Given the description of an element on the screen output the (x, y) to click on. 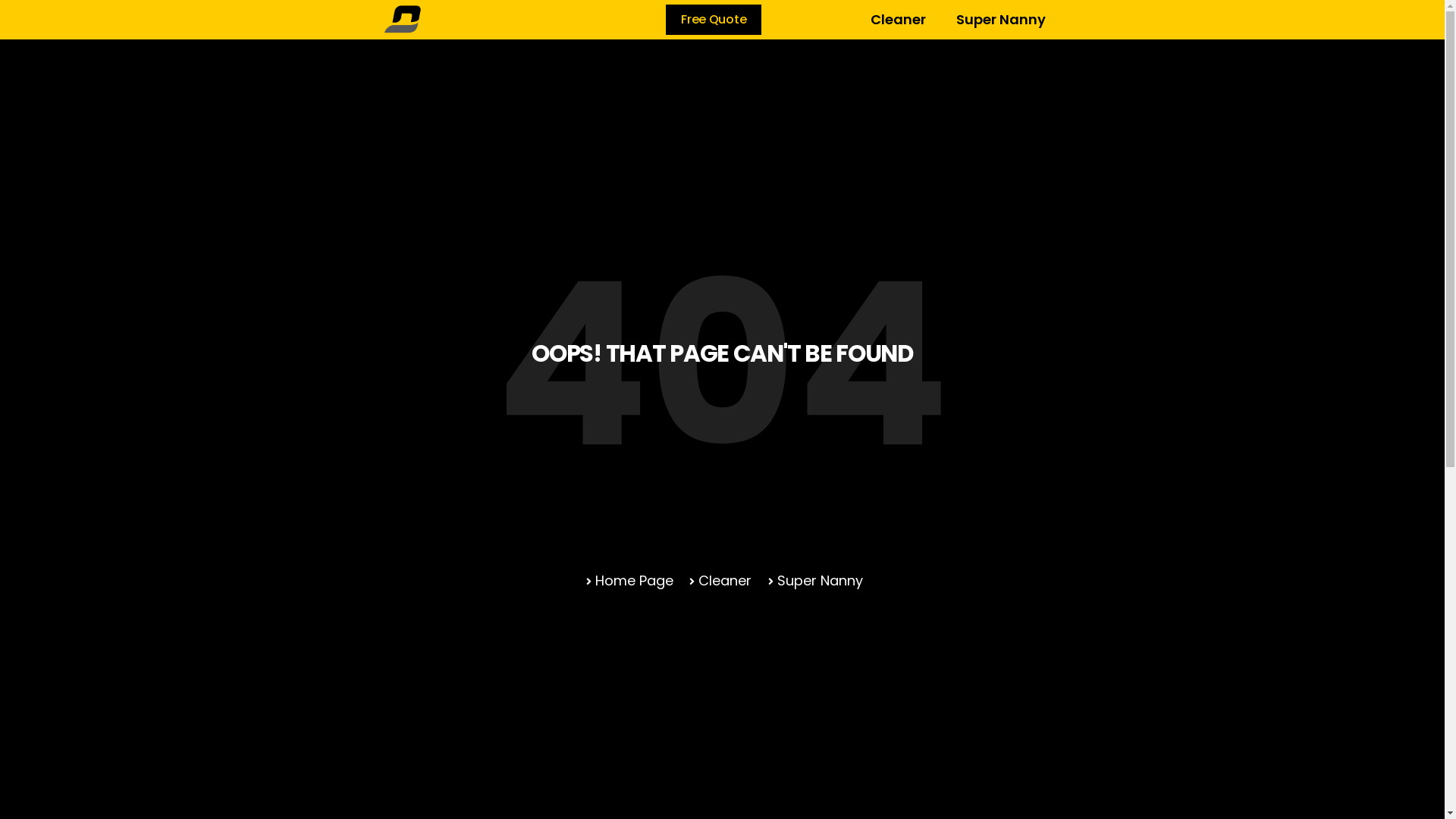
Super Nanny Element type: text (812, 580)
Cleaner Element type: text (718, 580)
Home Page Element type: text (627, 580)
Super Nanny Element type: text (1000, 19)
Cleaner Element type: text (898, 19)
